Given the description of an element on the screen output the (x, y) to click on. 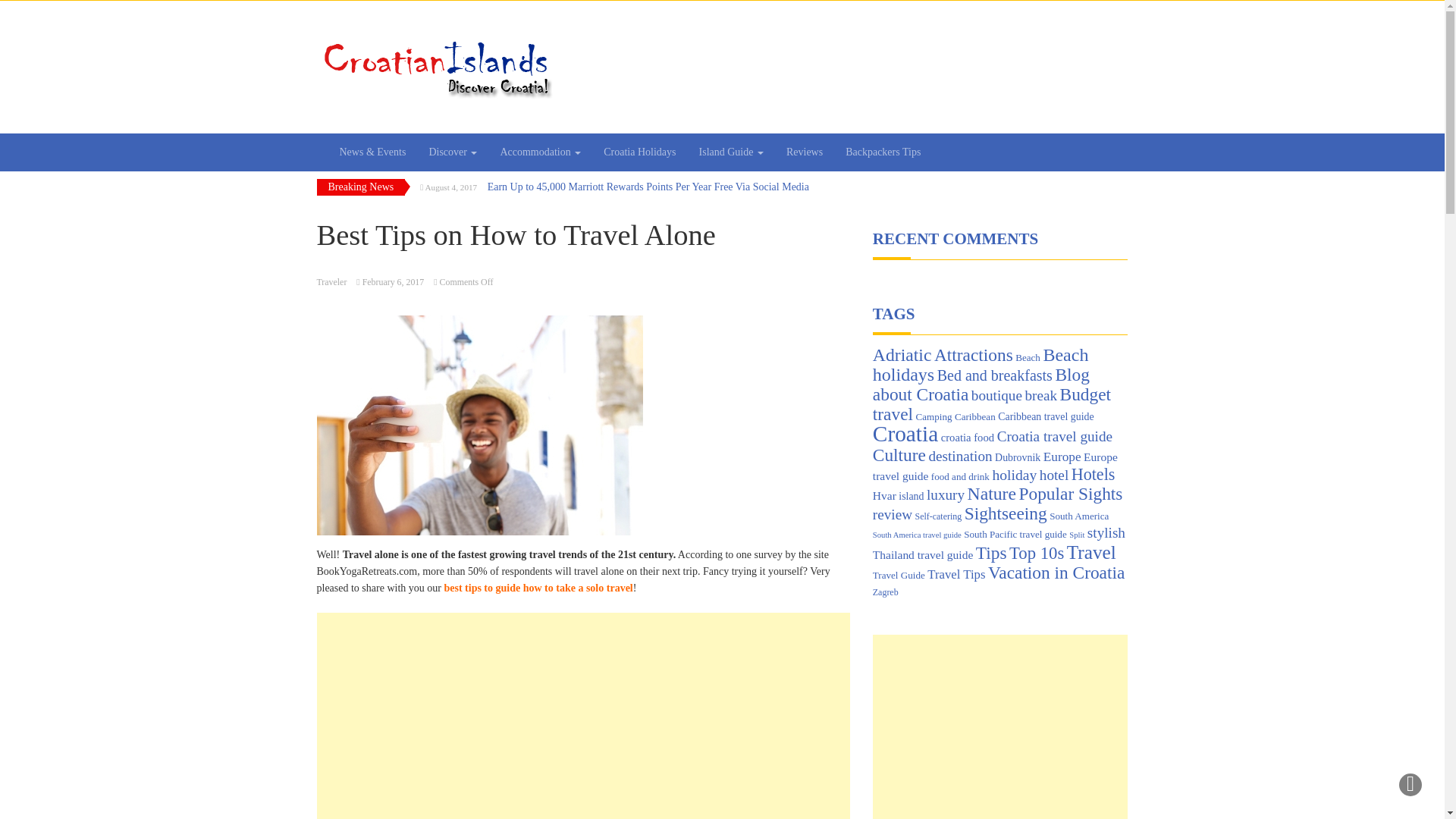
Croatia Holidays (639, 152)
Croatia Holidays (639, 152)
Reviews (804, 152)
Backpackers Tips (882, 152)
Island Guide (730, 152)
Traveler (332, 281)
Island Guide (730, 152)
Discover (451, 152)
best tips to guide how to take a solo travel (537, 587)
Accommodation (539, 152)
Discover (451, 152)
Accommodation (539, 152)
February 6, 2017 (393, 281)
